Given the description of an element on the screen output the (x, y) to click on. 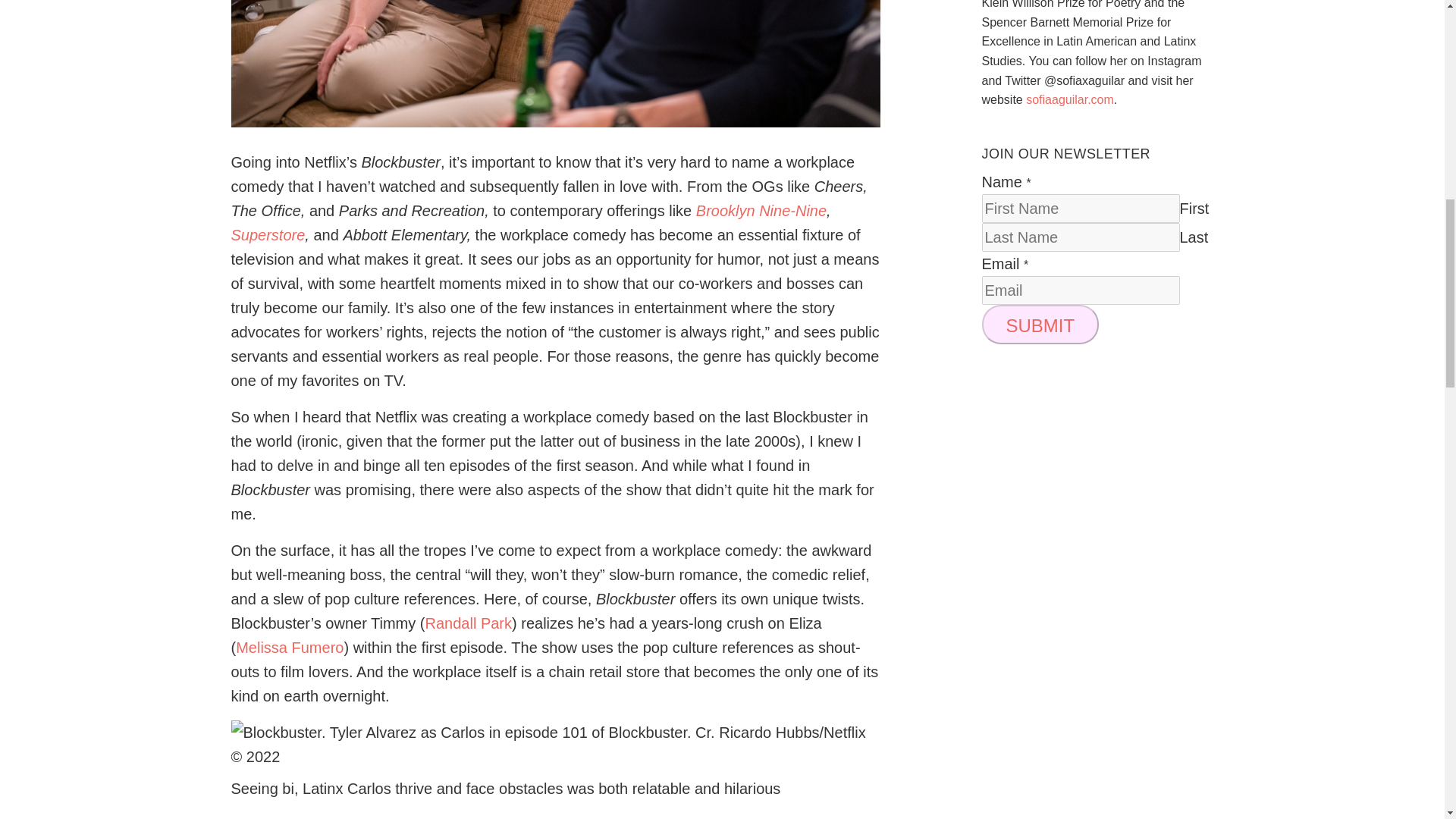
sofiaaguilar.com (1069, 99)
Superstore (267, 234)
Randall Park (468, 623)
Melissa Fumero (289, 647)
SUBMIT (1040, 323)
Brooklyn Nine-Nine (761, 210)
